Given the description of an element on the screen output the (x, y) to click on. 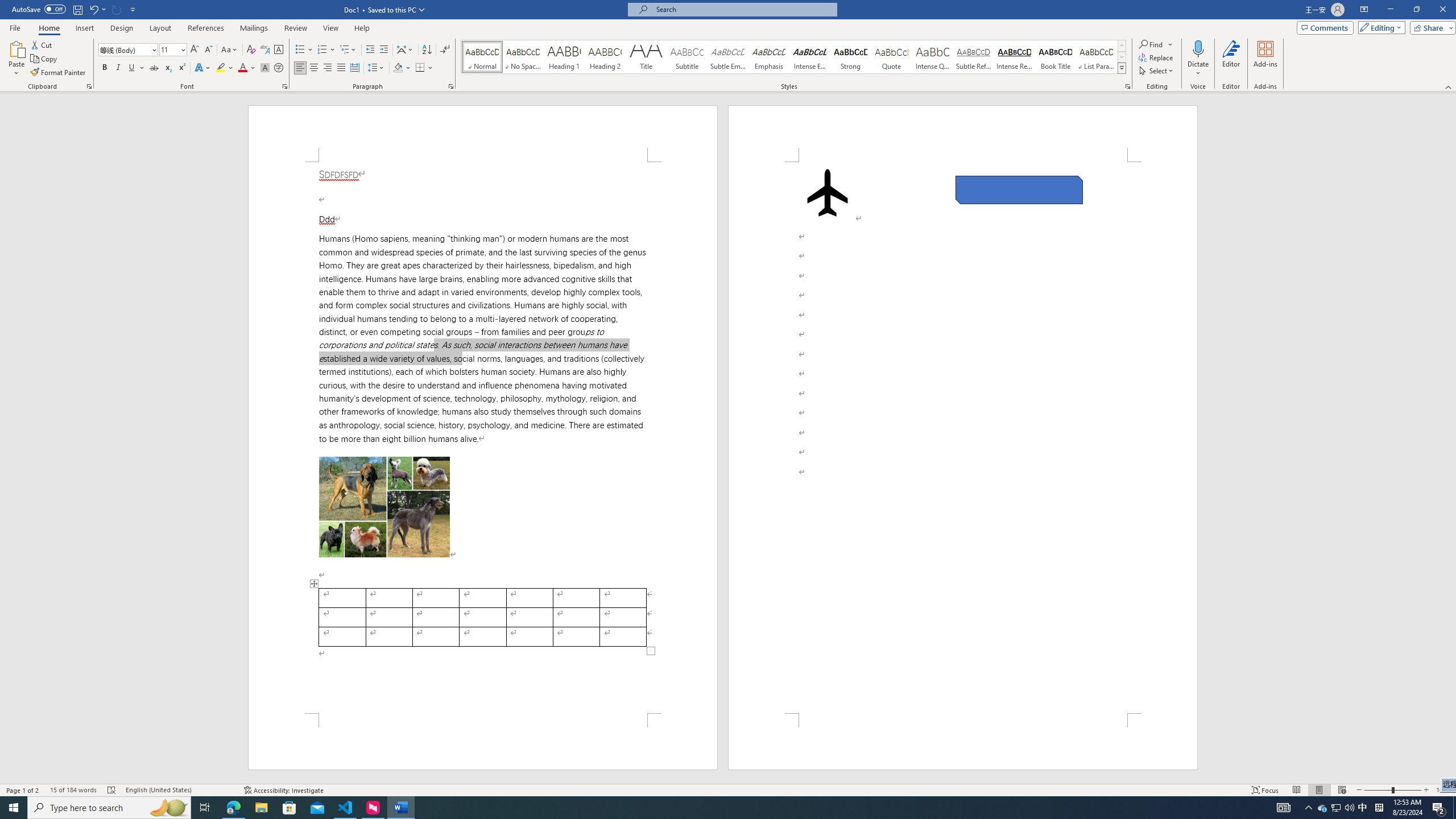
Enclose Characters... (278, 67)
Emphasis (768, 56)
Shading (402, 67)
Paragraph... (450, 85)
Intense Quote (932, 56)
Asian Layout (405, 49)
Class: NetUIScrollBar (1450, 437)
Quote (891, 56)
Title (646, 56)
Airplane with solid fill (827, 192)
